Given the description of an element on the screen output the (x, y) to click on. 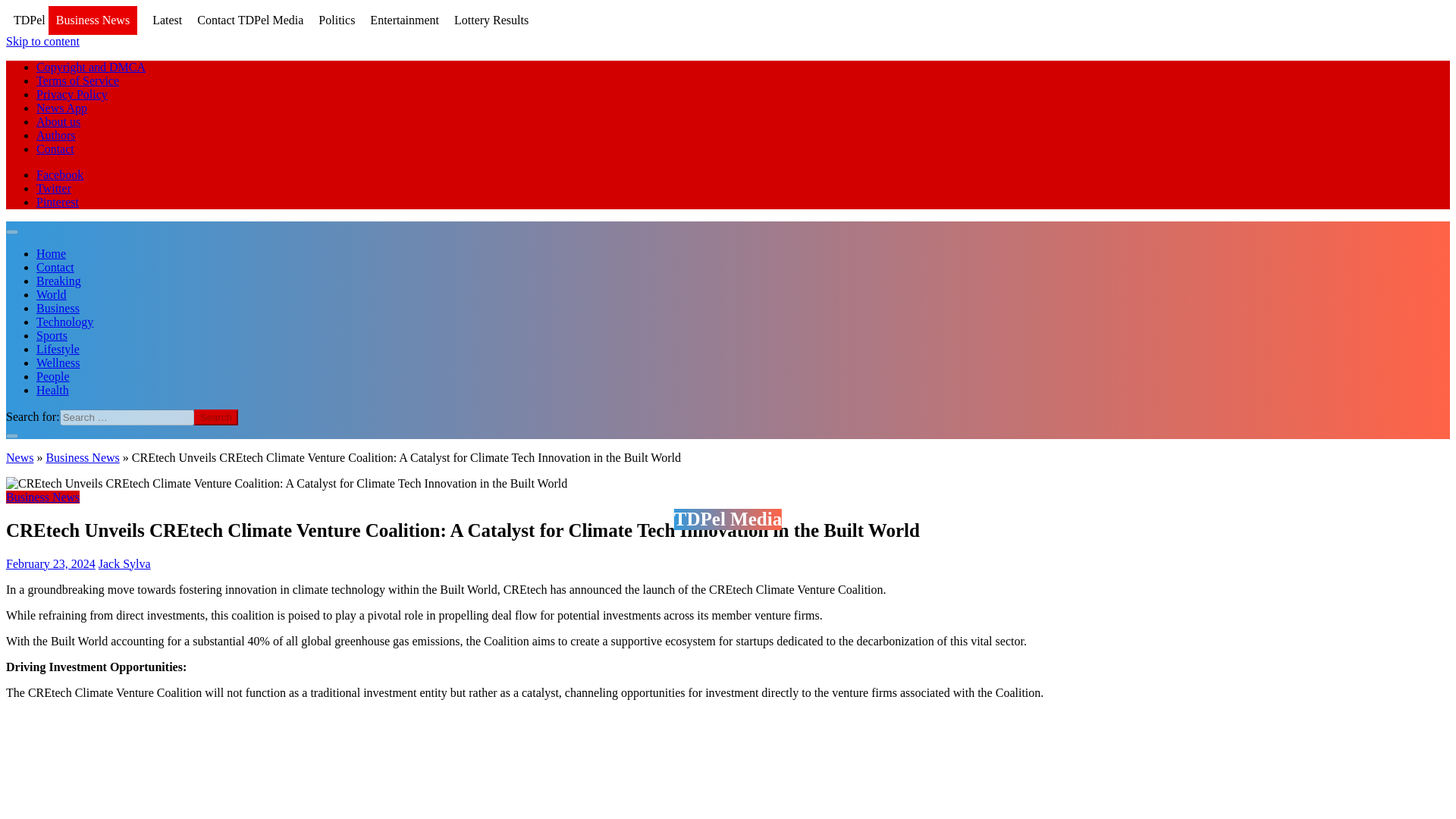
Terms of Service (77, 80)
Breaking (58, 280)
World (51, 294)
Search (215, 417)
Pinterest (57, 201)
Business (58, 308)
Contact (55, 148)
Latest (167, 19)
Search (215, 417)
Technology (64, 321)
Home (50, 253)
Jack Sylva (125, 562)
Search (215, 417)
Facebook (59, 174)
Contact TDPel Media (249, 19)
